Given the description of an element on the screen output the (x, y) to click on. 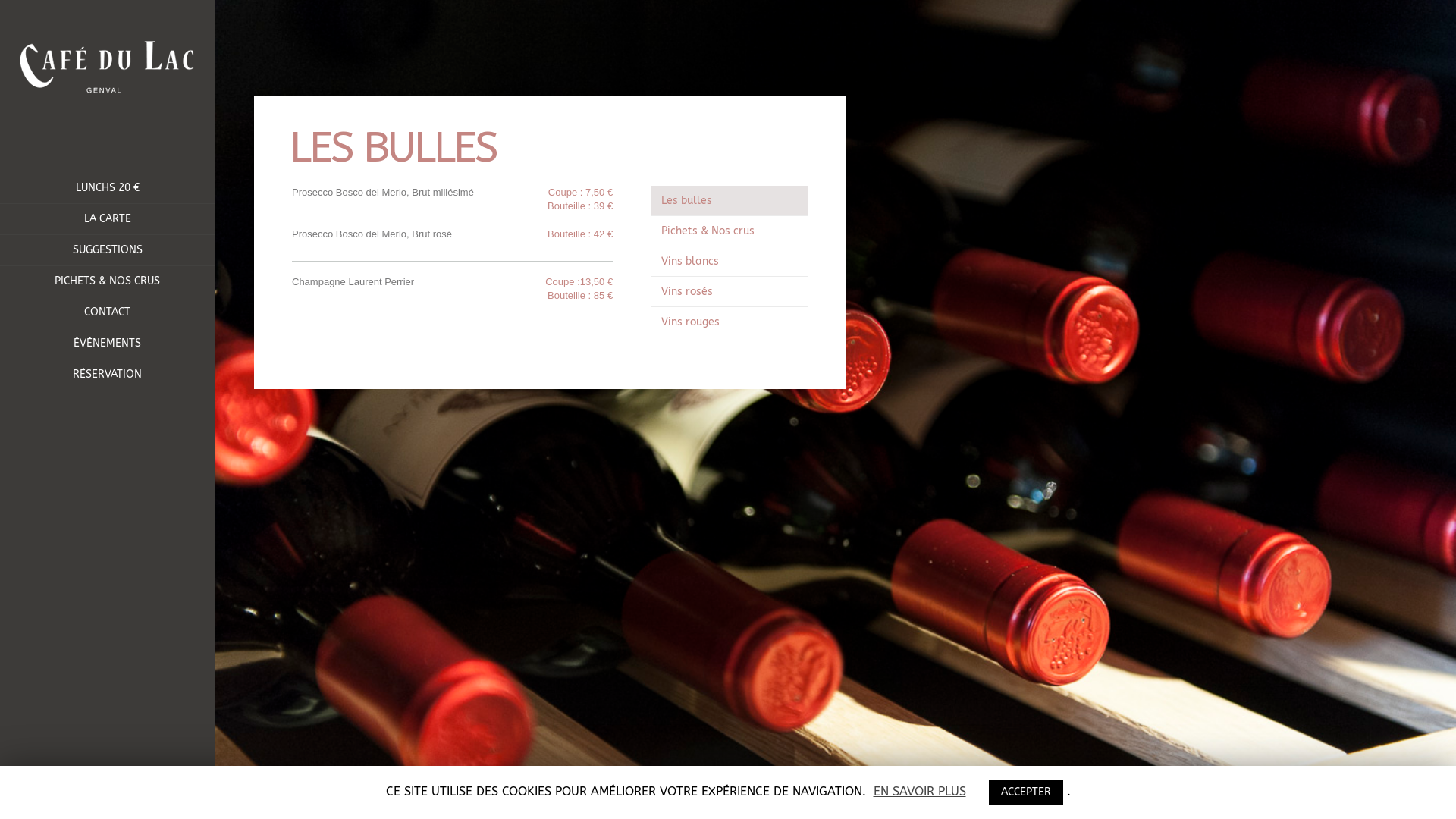
Pichets & Nos crus Element type: text (729, 230)
LA CARTE Element type: text (107, 218)
Les bulles Element type: text (729, 200)
Vins blancs Element type: text (729, 260)
Vins rouges Element type: text (729, 321)
CONTACT Element type: text (107, 312)
ACCEPTER Element type: text (1025, 792)
PICHETS & NOS CRUS Element type: text (107, 281)
SUGGESTIONS Element type: text (107, 250)
EN SAVOIR PLUS Element type: text (919, 791)
